Given the description of an element on the screen output the (x, y) to click on. 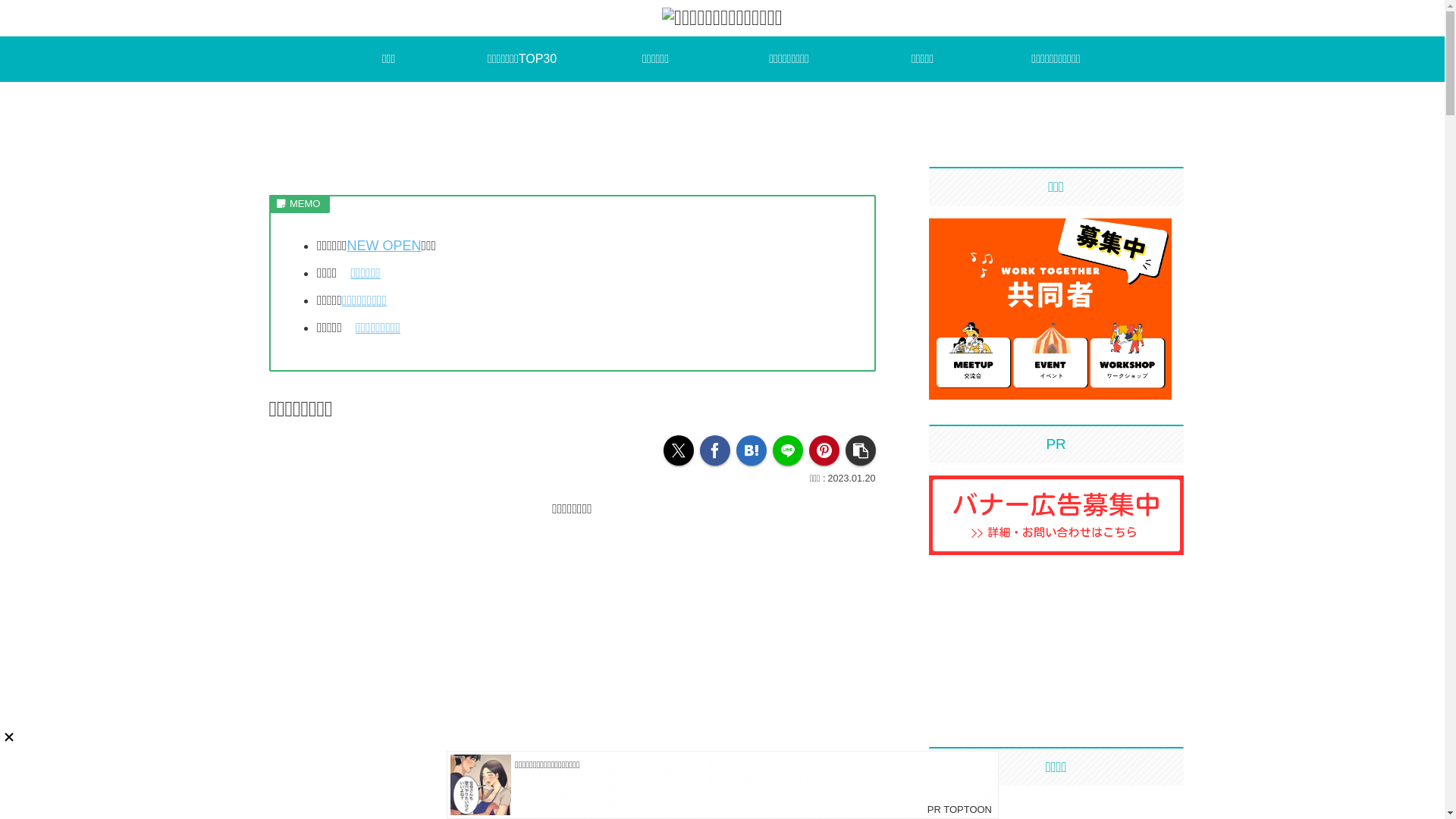
Advertisement Element type: hover (1049, 676)
Advertisement Element type: hover (1049, 592)
NEW OPEN Element type: text (384, 245)
